Given the description of an element on the screen output the (x, y) to click on. 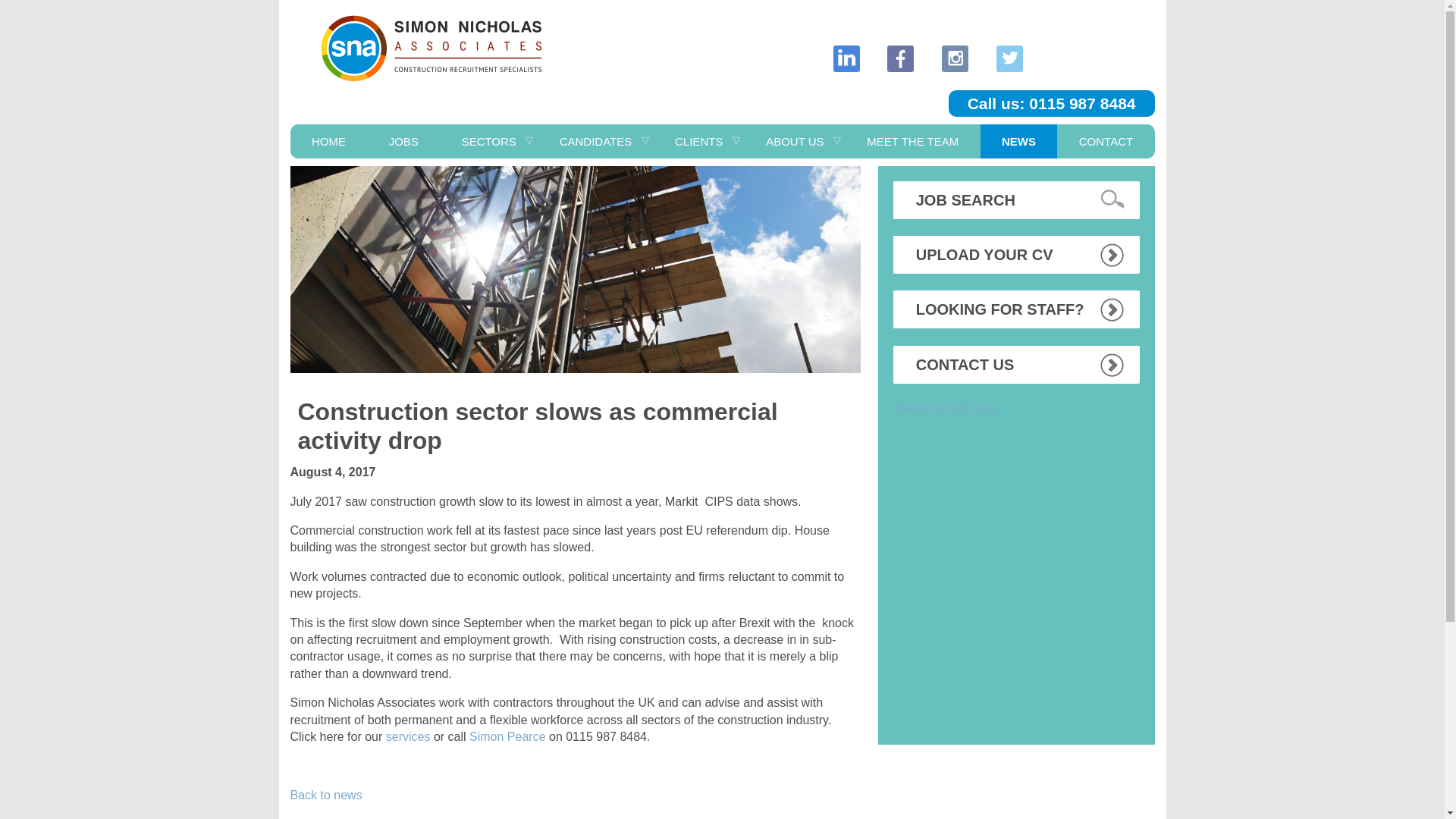
NEWS (1018, 141)
ABOUT US (794, 141)
CLIENTS (698, 141)
Call us: 0115 987 8484 (1051, 103)
CANDIDATES (594, 141)
SECTORS (488, 141)
JOBS (402, 141)
MEET THE TEAM (912, 141)
CONTACT (1105, 141)
HOME (327, 141)
